Given the description of an element on the screen output the (x, y) to click on. 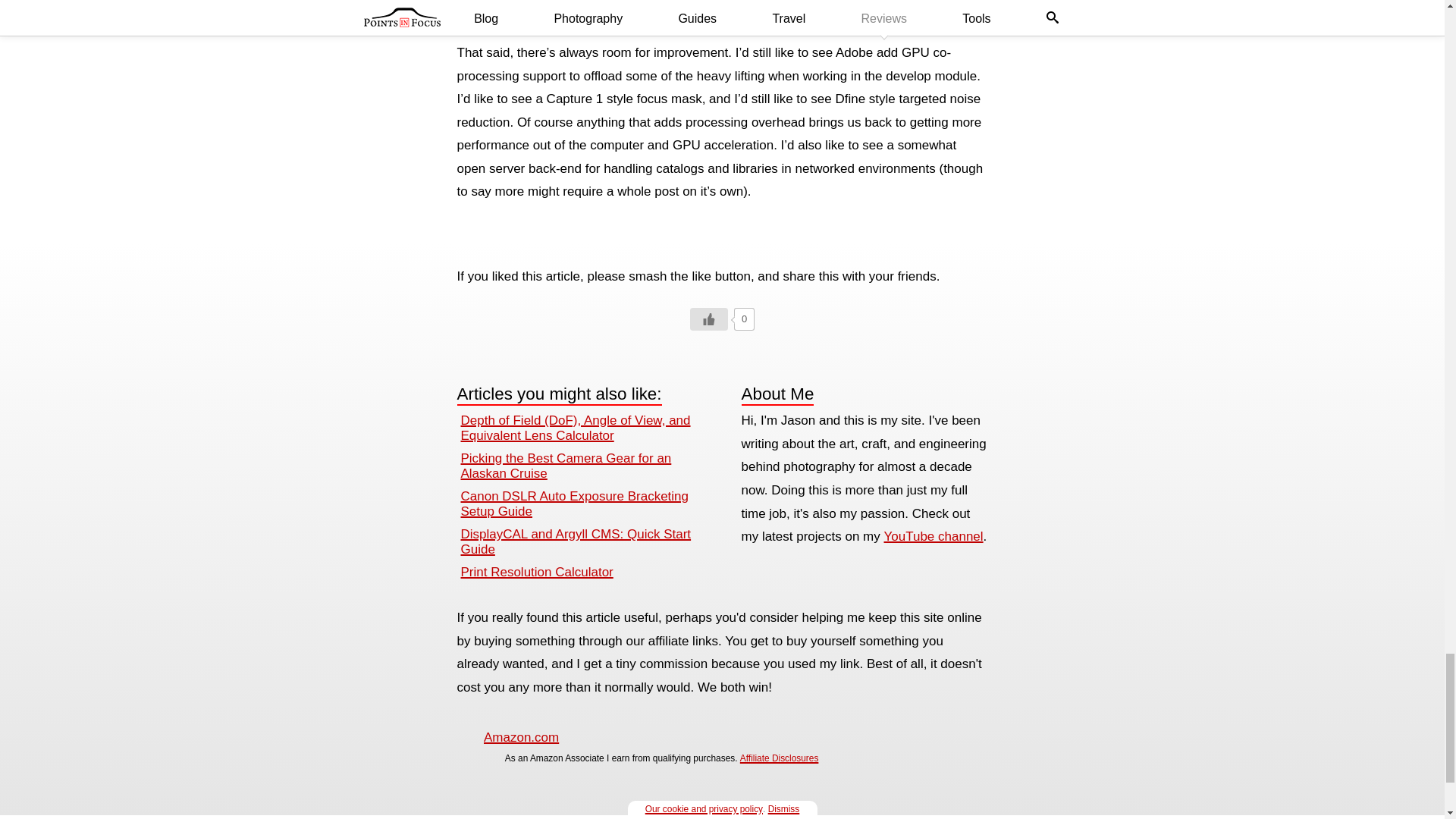
Print Resolution Calcualtor (536, 572)
Canon DSLR Auto Exposure Bracketing Setup Guide (574, 503)
Canon Auto Exposure Bracketing COnigruation Guide (574, 503)
DisplayCAL quick start guide. (576, 541)
Print Resolution Calculator (536, 572)
DisplayCAL and Argyll CMS: Quick Start Guide (576, 541)
Amazon.com (521, 737)
Picking the Best Camera Gear for an Alaskan Cruise (566, 465)
Picking the best camera gear for an Alaskan Cruise. (566, 465)
Affiliate Disclosures (778, 757)
